Given the description of an element on the screen output the (x, y) to click on. 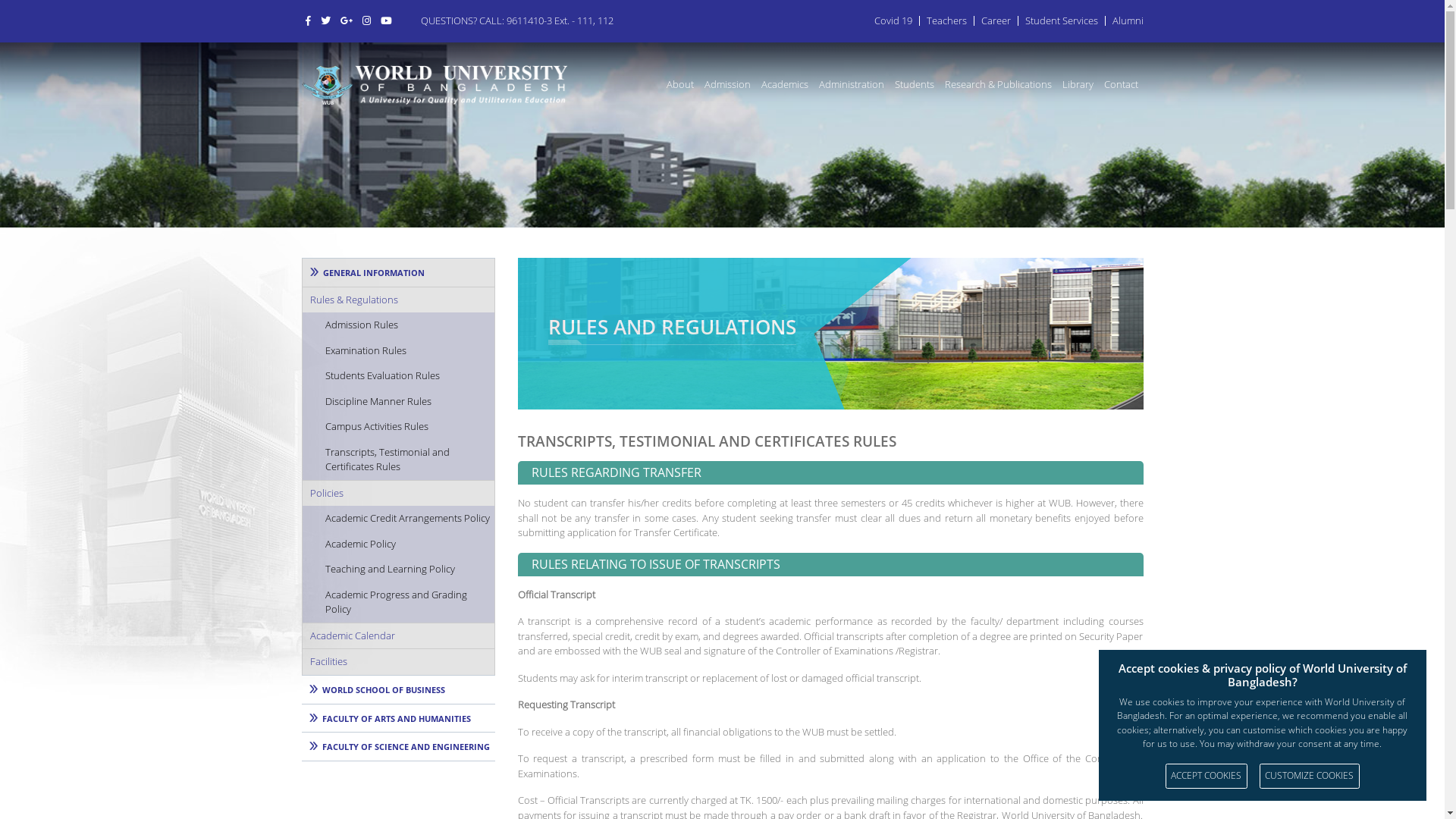
Students Evaluation Rules Element type: text (397, 376)
Examination Rules Element type: text (397, 351)
Logo World University of Bangladesh Element type: hover (434, 84)
Administration Element type: text (850, 84)
Admission Element type: text (727, 84)
Academic Credit Arrangements Policy Element type: text (397, 518)
Facilities Element type: text (397, 661)
Academics Element type: text (783, 84)
World University Bangladesh Youtube Page Element type: text (385, 20)
Student Services Element type: text (1061, 20)
World University Bangladesh Instagram Page Element type: text (365, 20)
Academic Policy Element type: text (397, 544)
Academic Progress and Grading Policy Element type: text (397, 602)
Teachers Element type: text (946, 20)
Teaching and Learning Policy Element type: text (397, 569)
Covid 19 Element type: text (892, 20)
Admission Rules Element type: text (397, 325)
World University Bangladesh Facebook Page Element type: text (307, 20)
Contact Element type: text (1120, 84)
Library Element type: text (1077, 84)
ACCEPT COOKIES Element type: text (1206, 775)
Students Element type: text (913, 84)
Academic Calendar Element type: text (397, 635)
Transcripts, Testimonial and Certificates Rules Element type: text (397, 459)
Discipline Manner Rules Element type: text (397, 401)
About Element type: text (680, 84)
CUSTOMIZE COOKIES Element type: text (1309, 775)
Campus Activities Rules Element type: text (397, 426)
World University Bangladesh Twitter Page Element type: text (325, 20)
Rules & Regulations Element type: text (397, 300)
Alumni Element type: text (1126, 20)
World University Bangladesh Google Plus Page Element type: text (346, 20)
Research & Publications Element type: text (997, 84)
Career Element type: text (995, 20)
Policies Element type: text (397, 493)
